Given the description of an element on the screen output the (x, y) to click on. 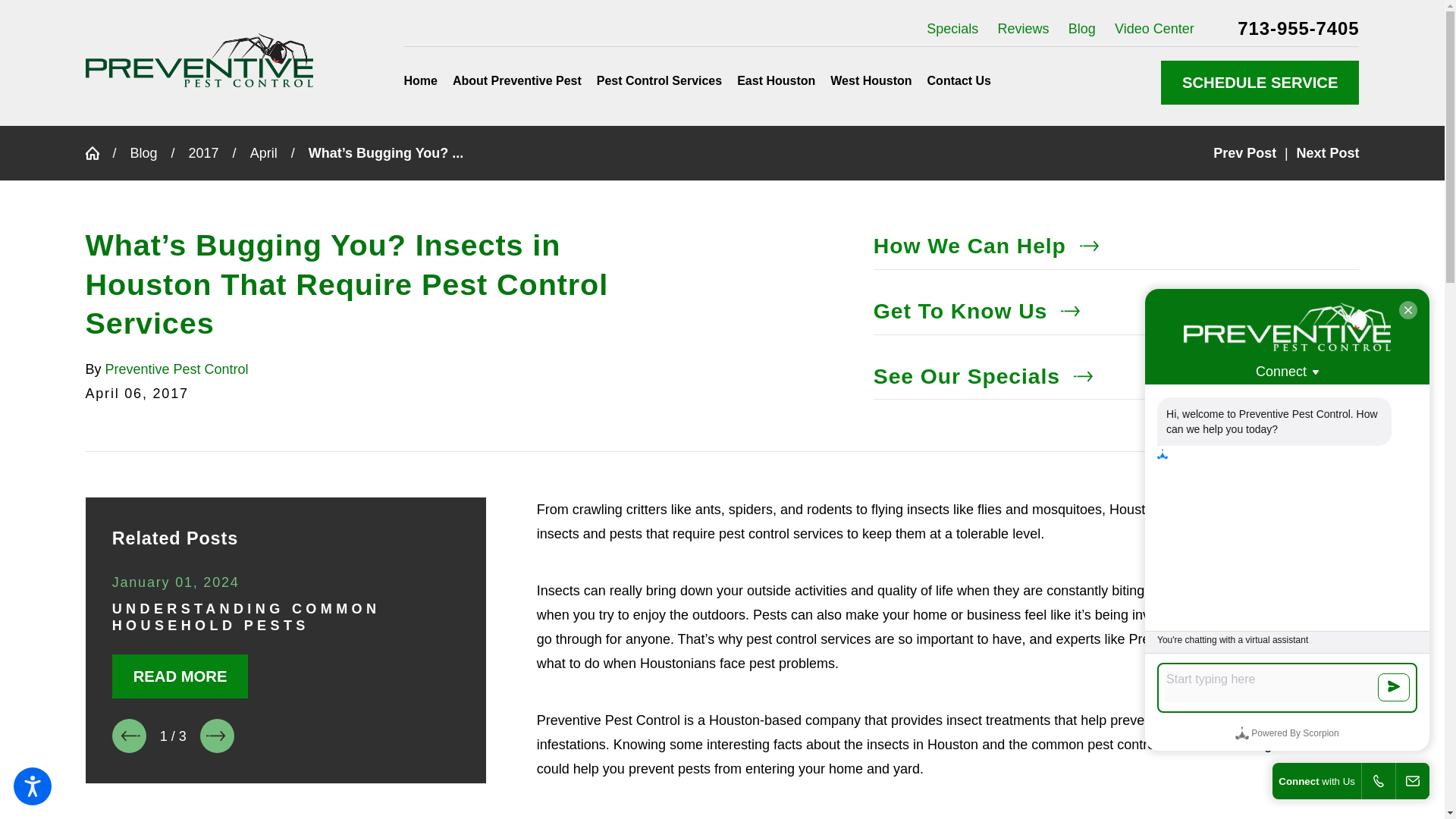
View previous item (129, 735)
Preventive Pest Control (198, 59)
Open the accessibility options menu (31, 786)
Reviews (1023, 28)
East Houston (775, 80)
Specials (952, 28)
713-955-7405 (1297, 28)
Blog (1082, 28)
View next item (217, 735)
Go Home (98, 152)
